Given the description of an element on the screen output the (x, y) to click on. 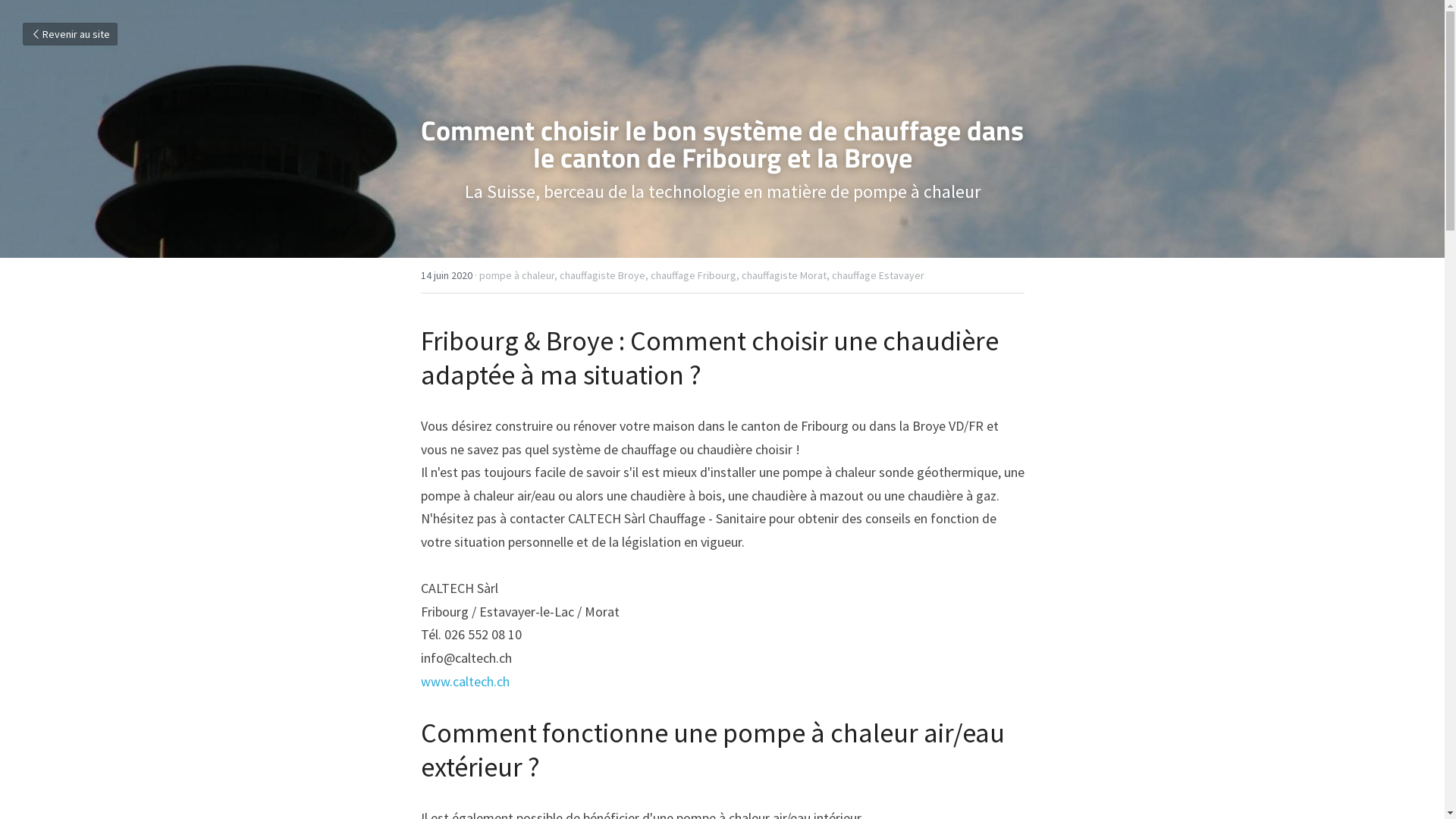
Revenir au site Element type: text (69, 33)
www.caltech.ch Element type: text (464, 681)
